Given the description of an element on the screen output the (x, y) to click on. 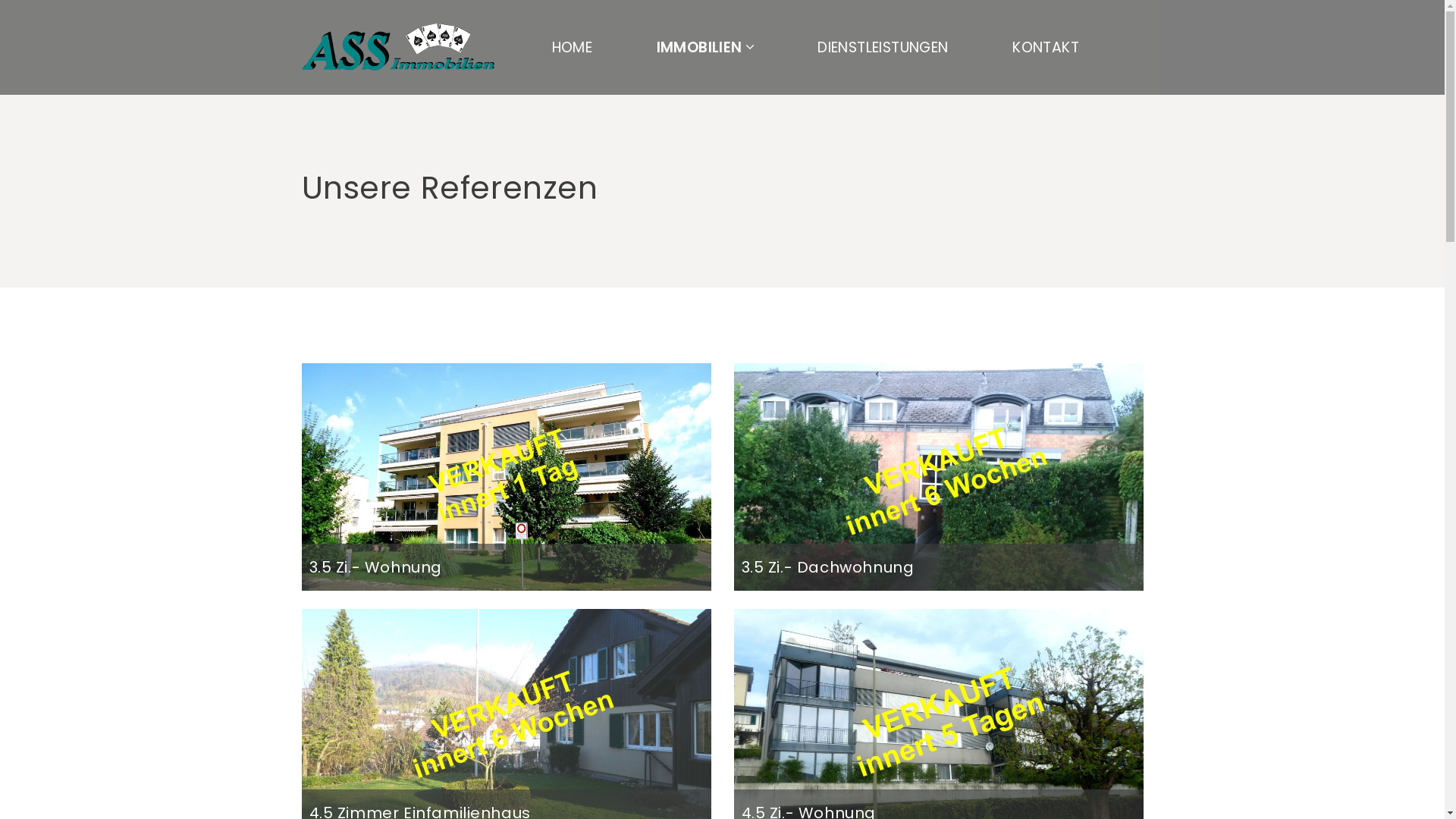
HOME Element type: text (572, 47)
IMMOBILIEN Element type: text (704, 47)
KONTAKT Element type: text (1045, 47)
DIENSTLEISTUNGEN Element type: text (882, 47)
